Given the description of an element on the screen output the (x, y) to click on. 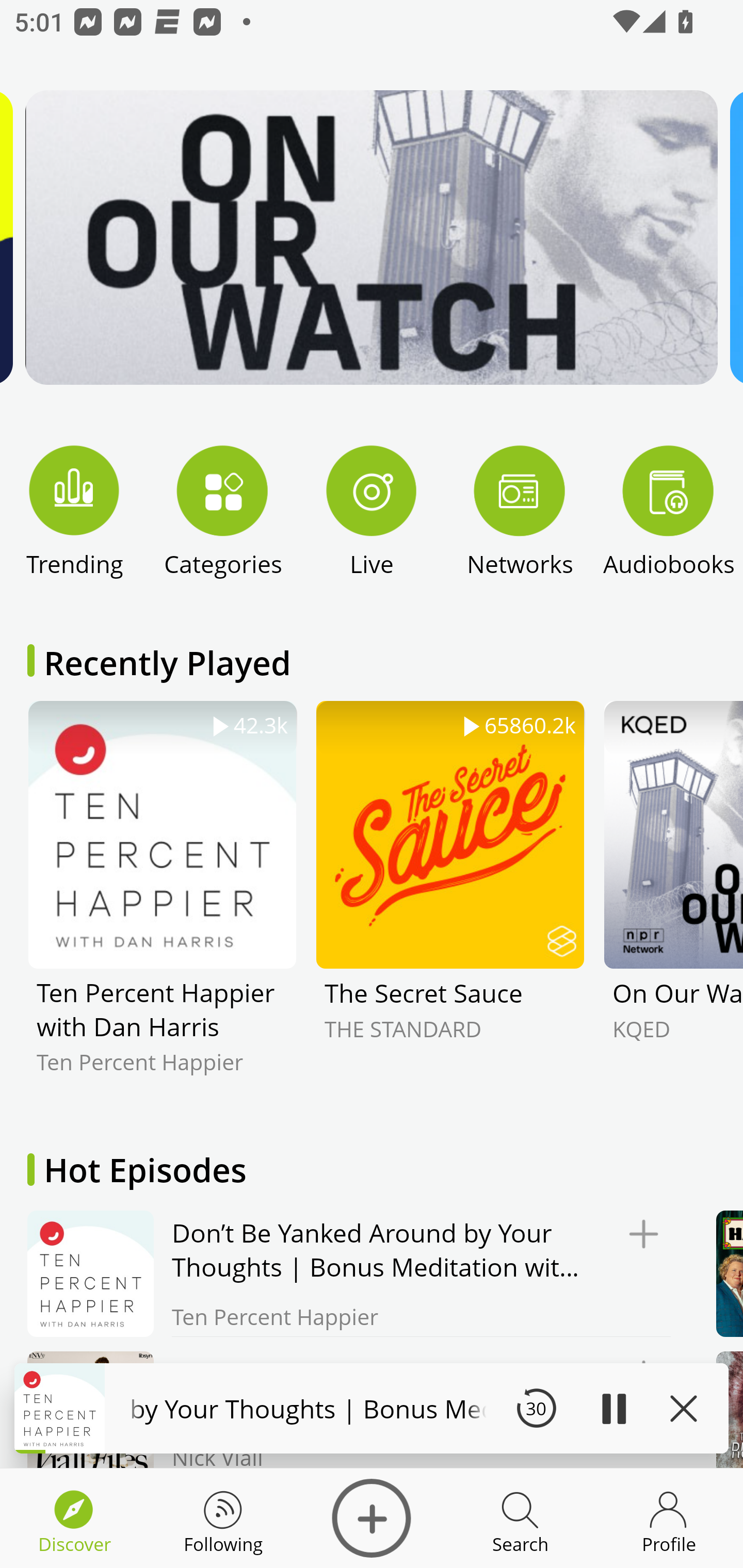
65860.2k The Secret Sauce THE STANDARD (450, 902)
On Our Watch KQED (673, 902)
Play (613, 1407)
30 Seek Backward (536, 1407)
Discover Following (222, 1518)
Discover (371, 1518)
Discover Search (519, 1518)
Discover Profile (668, 1518)
